Given the description of an element on the screen output the (x, y) to click on. 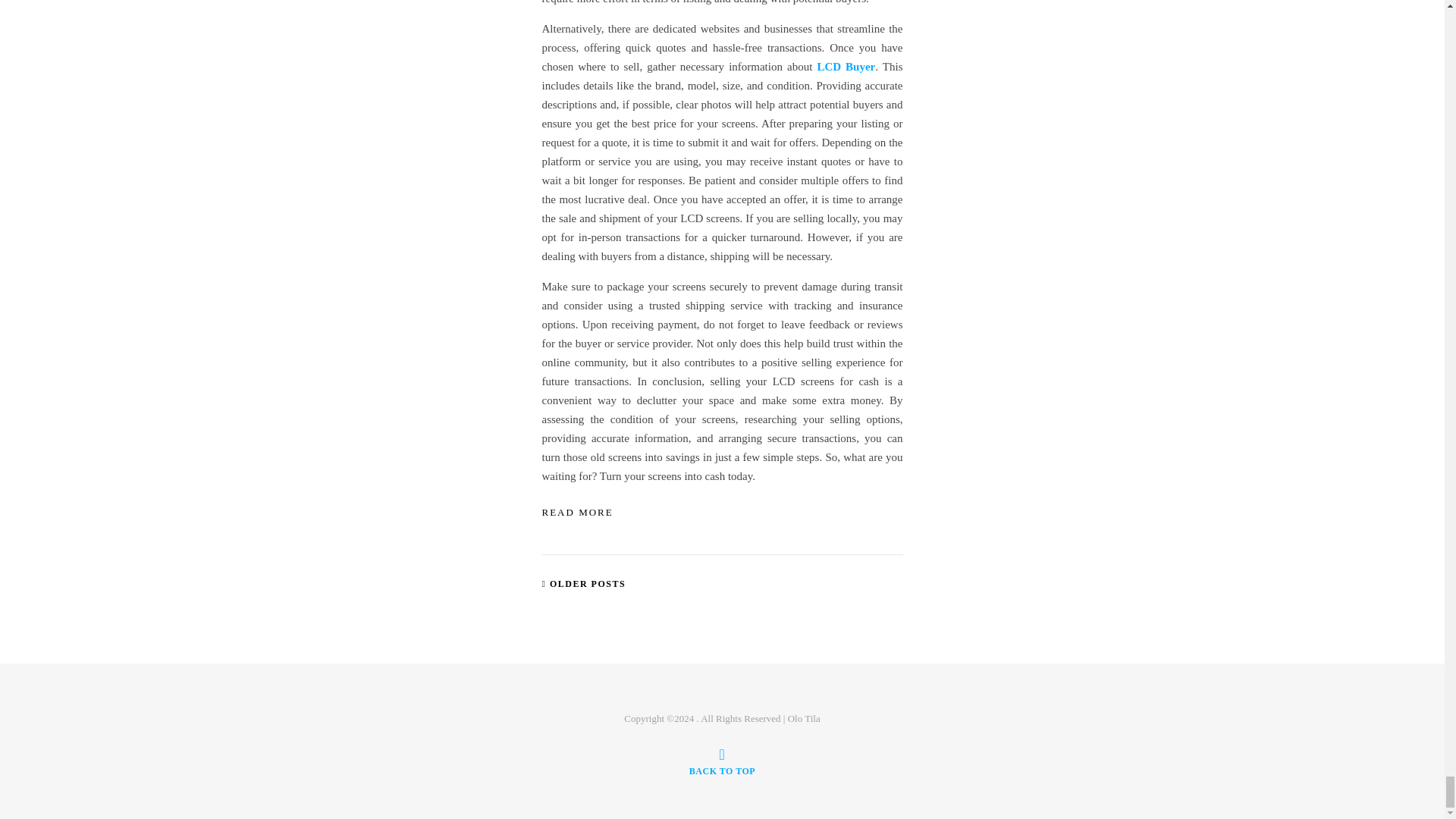
BACK TO TOP (722, 761)
